Given the description of an element on the screen output the (x, y) to click on. 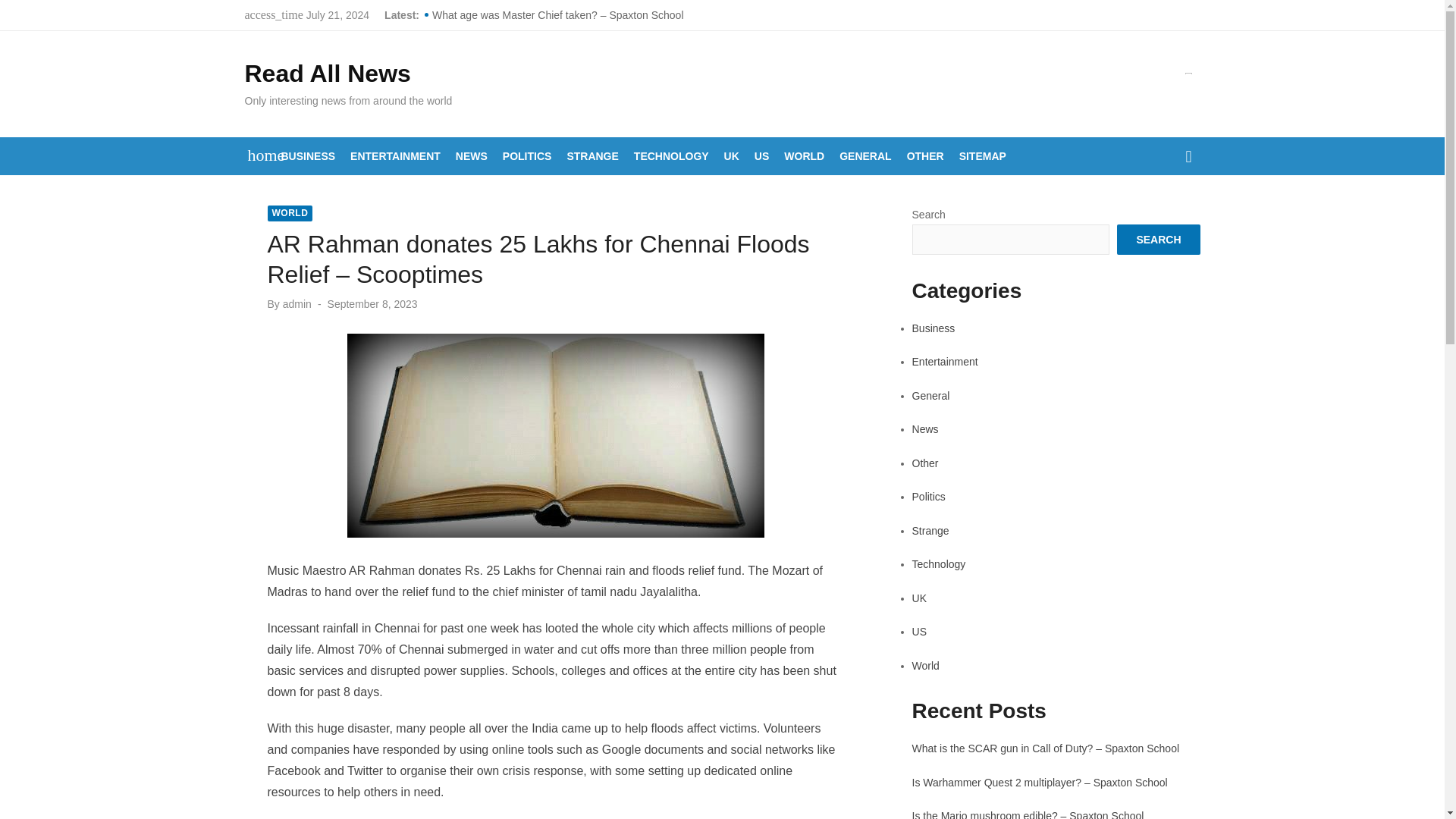
TECHNOLOGY (670, 156)
Read All News (327, 72)
BUSINESS (307, 156)
WORLD (289, 213)
OTHER (925, 156)
ENTERTAINMENT (395, 156)
SITEMAP (982, 156)
GENERAL (864, 156)
NEWS (471, 156)
WORLD (803, 156)
STRANGE (592, 156)
home (258, 154)
POLITICS (526, 156)
